Given the description of an element on the screen output the (x, y) to click on. 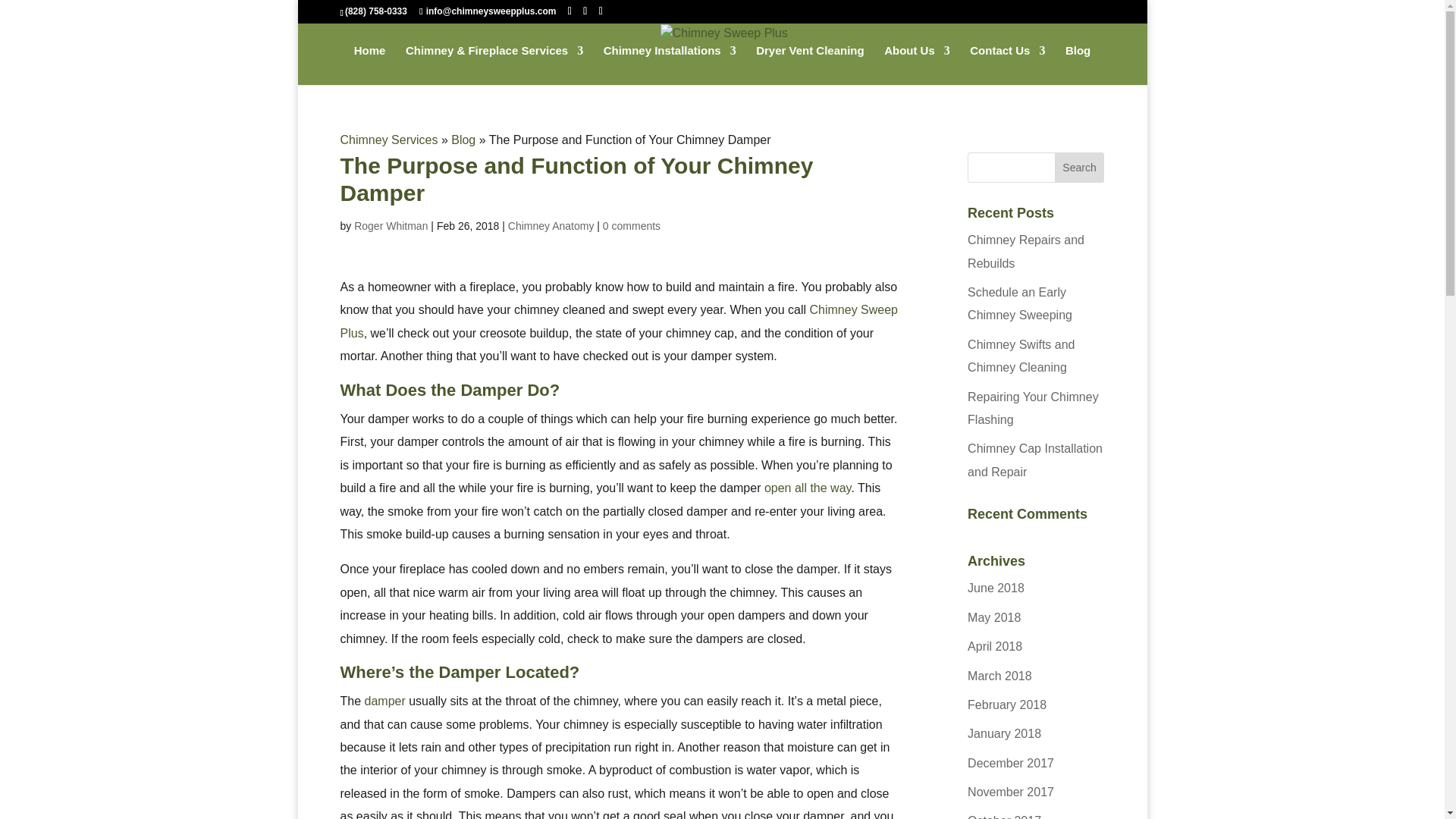
Chimney Installations (670, 65)
About Us (916, 65)
Posts by Roger Whitman (390, 225)
Search (1079, 167)
Dryer Vent Cleaning (809, 65)
